Given the description of an element on the screen output the (x, y) to click on. 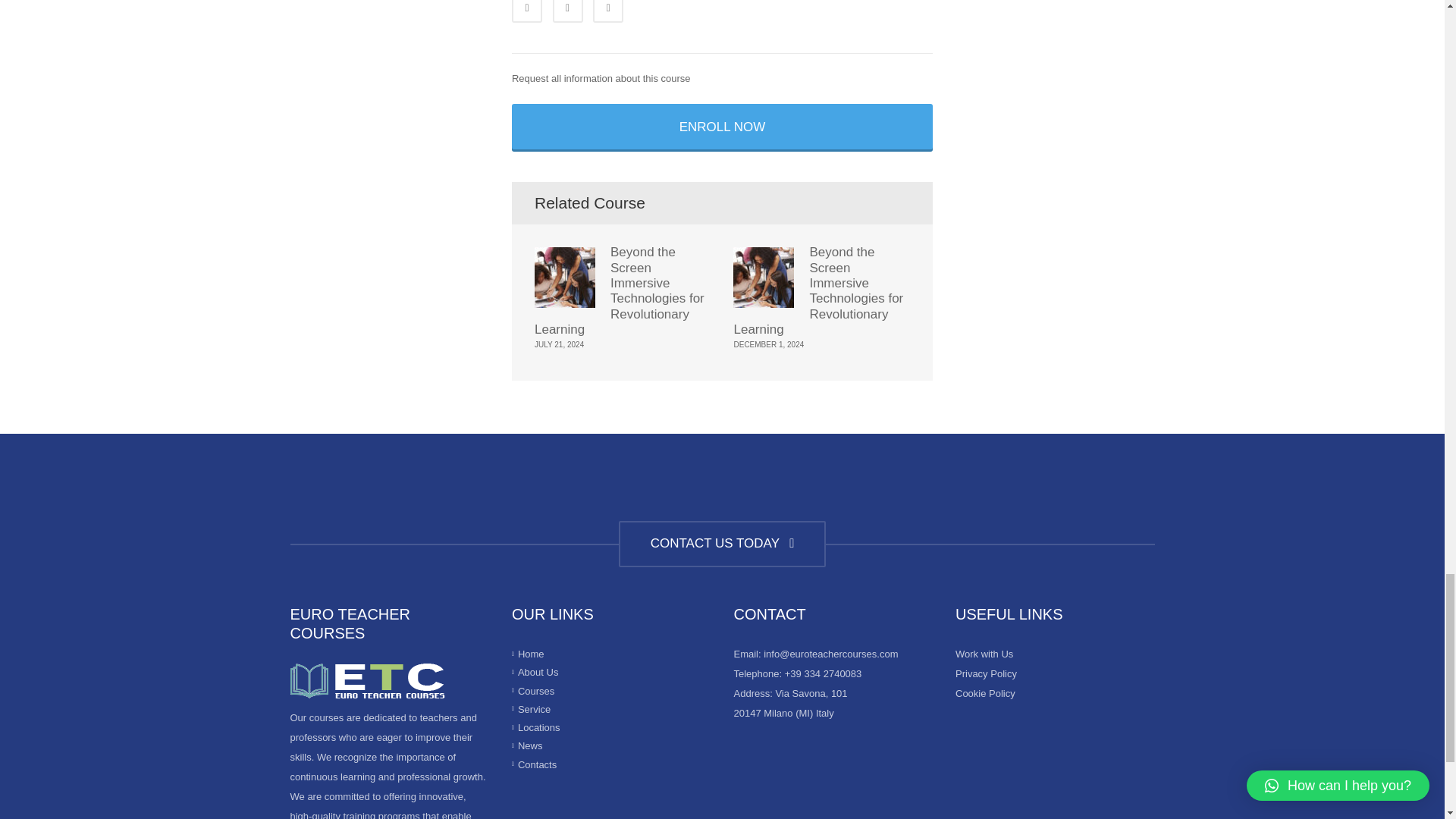
Share on Twitter (568, 11)
Email this (607, 11)
Share on Facebook (526, 11)
